Given the description of an element on the screen output the (x, y) to click on. 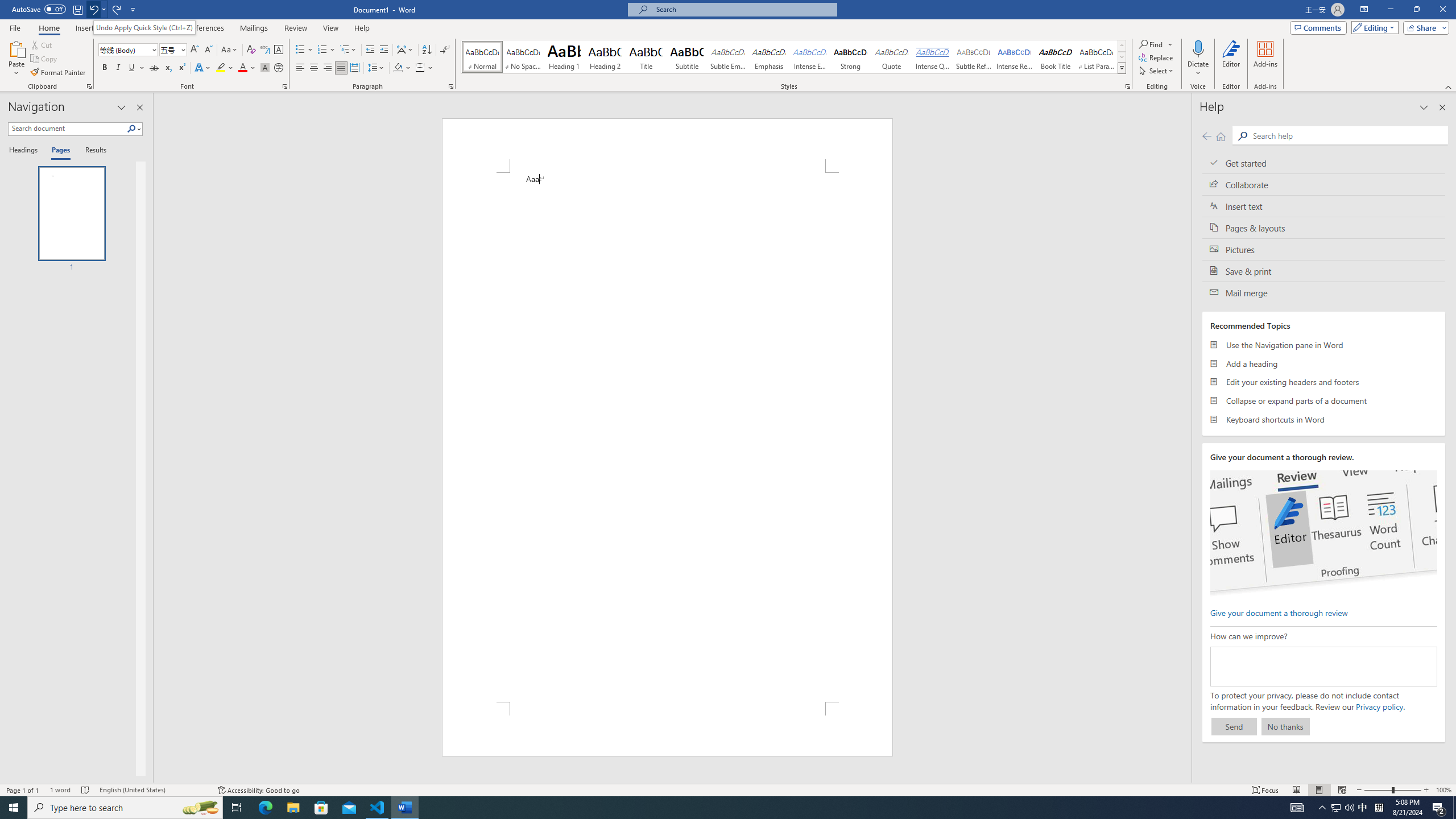
Heading 2 (605, 56)
Redo Style (117, 9)
Keyboard shortcuts in Word (1323, 419)
